Given the description of an element on the screen output the (x, y) to click on. 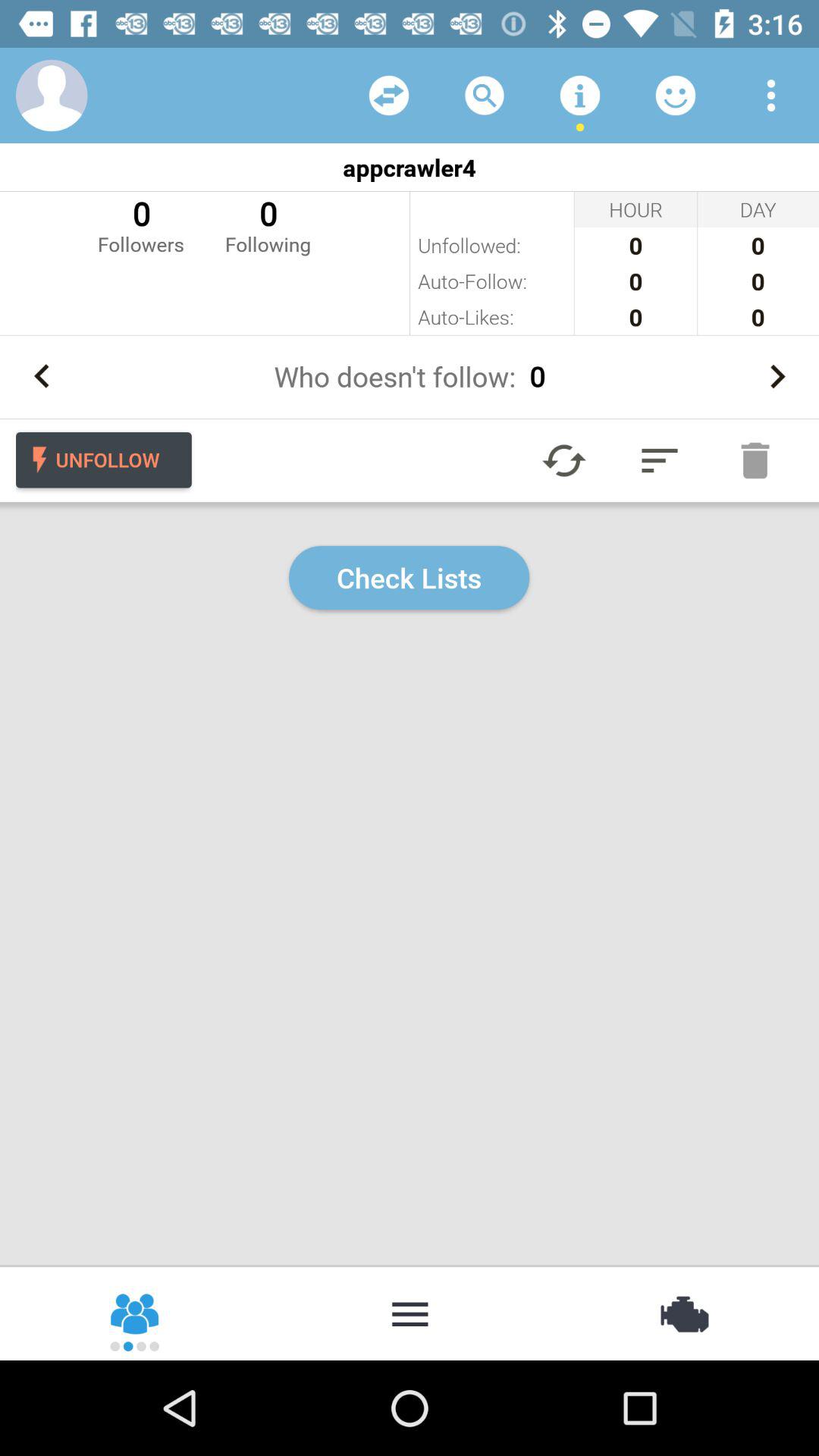
see more options (771, 95)
